Given the description of an element on the screen output the (x, y) to click on. 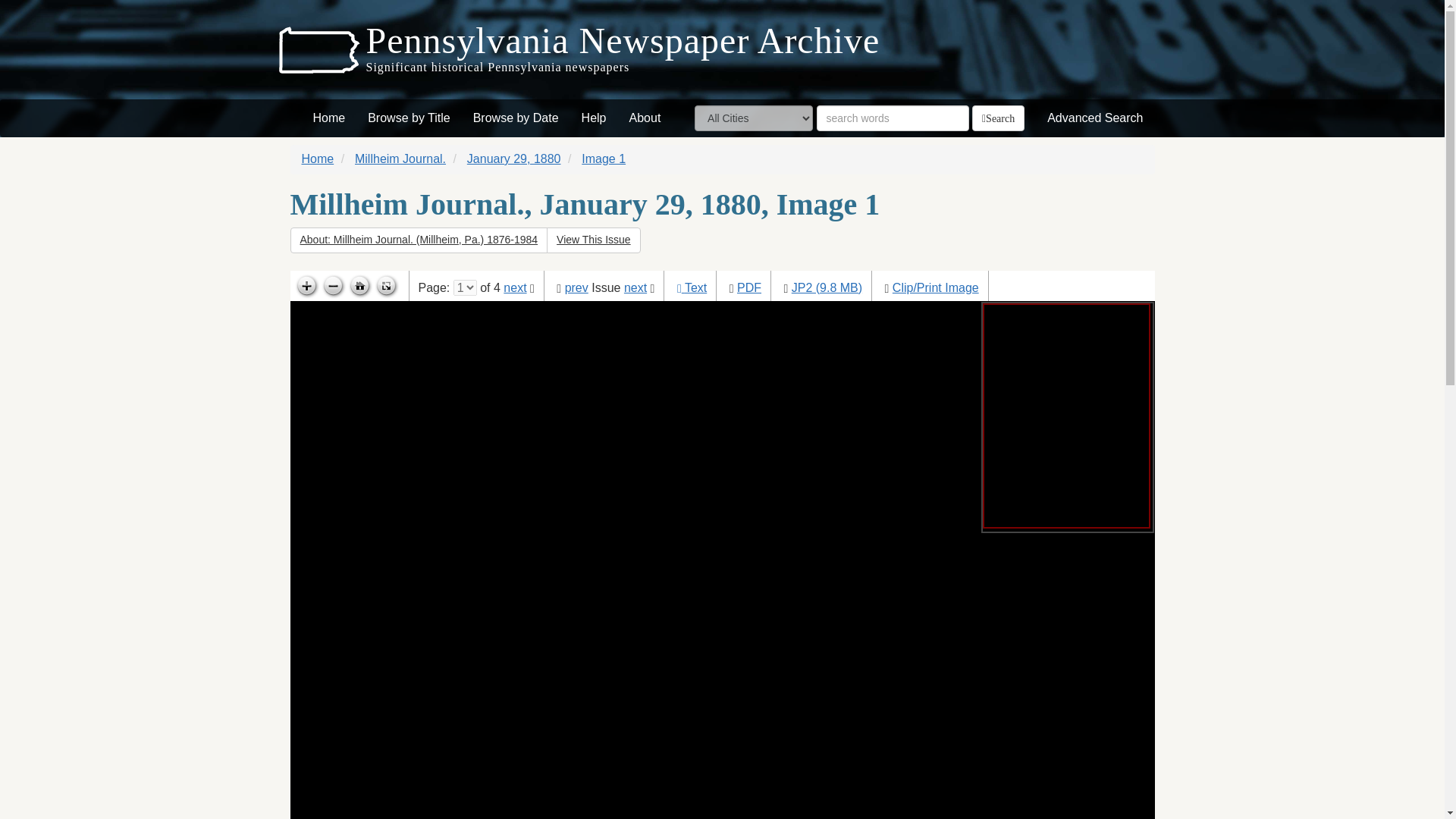
Go home (359, 286)
Toggle full page (385, 286)
prev (576, 287)
January 29, 1880 (513, 158)
Advanced Search (1094, 118)
Zoom in (305, 286)
Image 1 (603, 158)
View This Issue (593, 240)
Help (593, 118)
Home (317, 158)
Home (328, 118)
Browse by Date (515, 118)
Zoom out (333, 286)
Millheim Journal. (400, 158)
Search (998, 118)
